Given the description of an element on the screen output the (x, y) to click on. 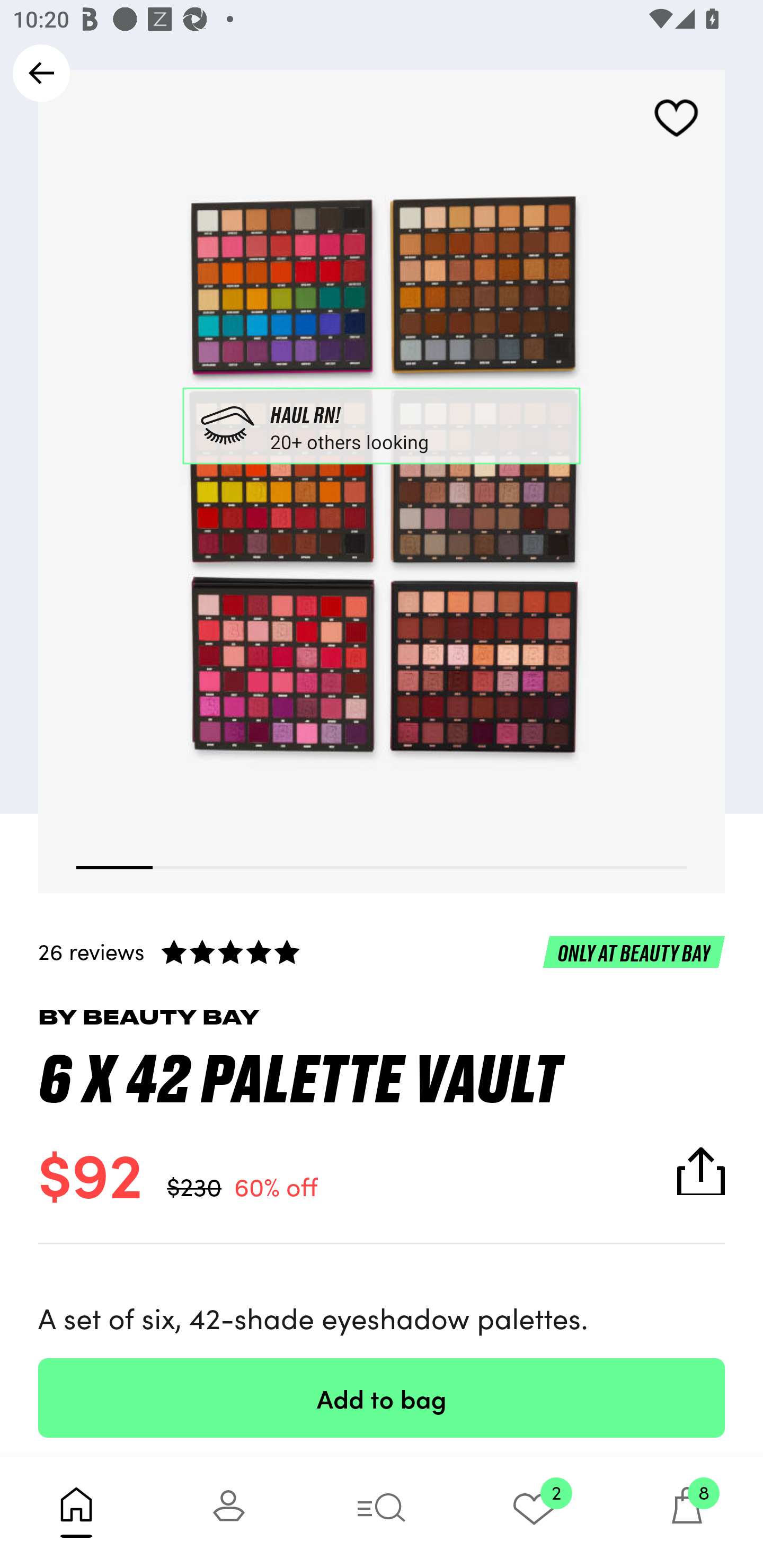
26 reviews (381, 950)
Add to bag (381, 1397)
2 (533, 1512)
8 (686, 1512)
